Given the description of an element on the screen output the (x, y) to click on. 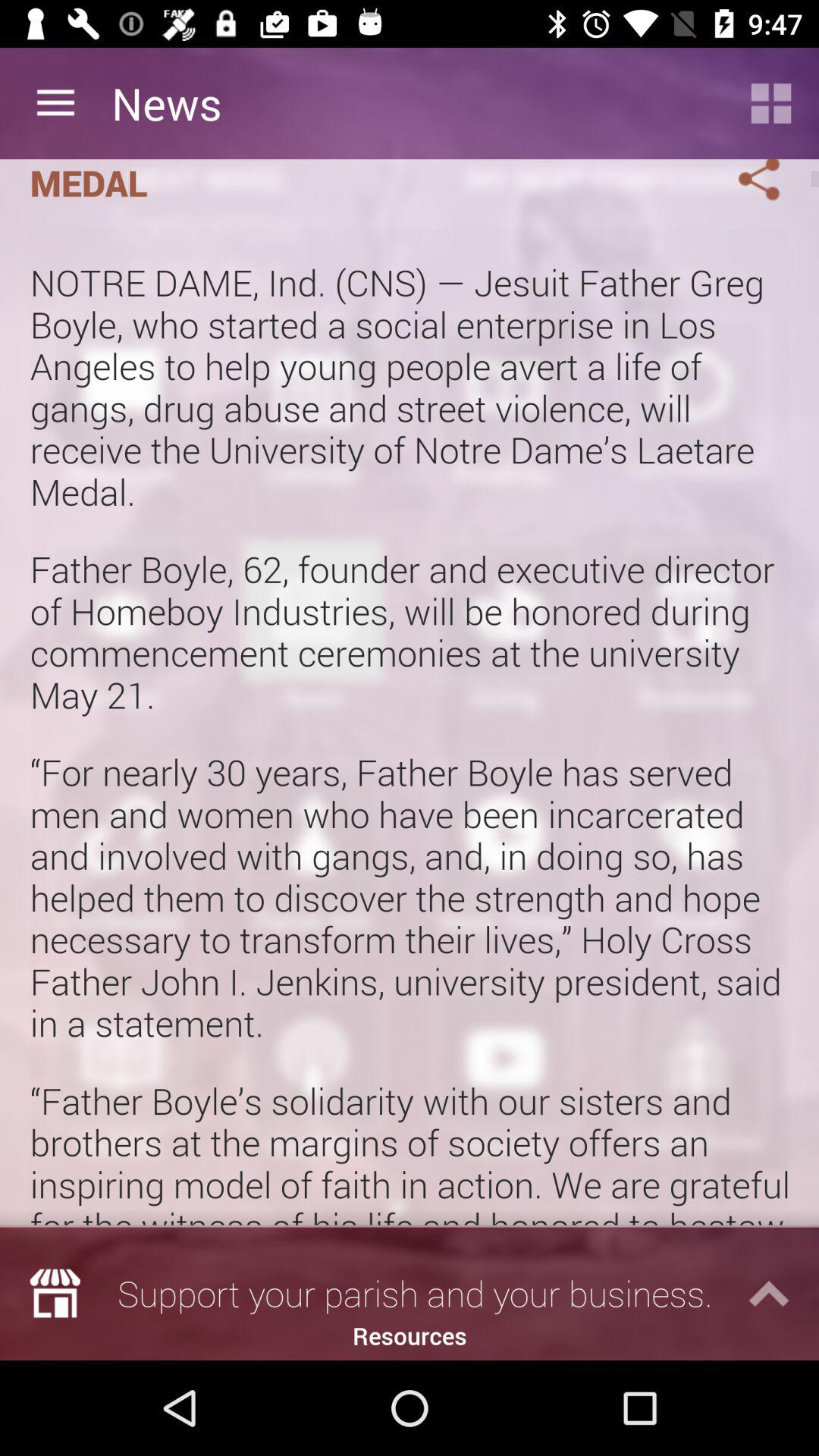
launch the item to the left of news item (55, 103)
